Given the description of an element on the screen output the (x, y) to click on. 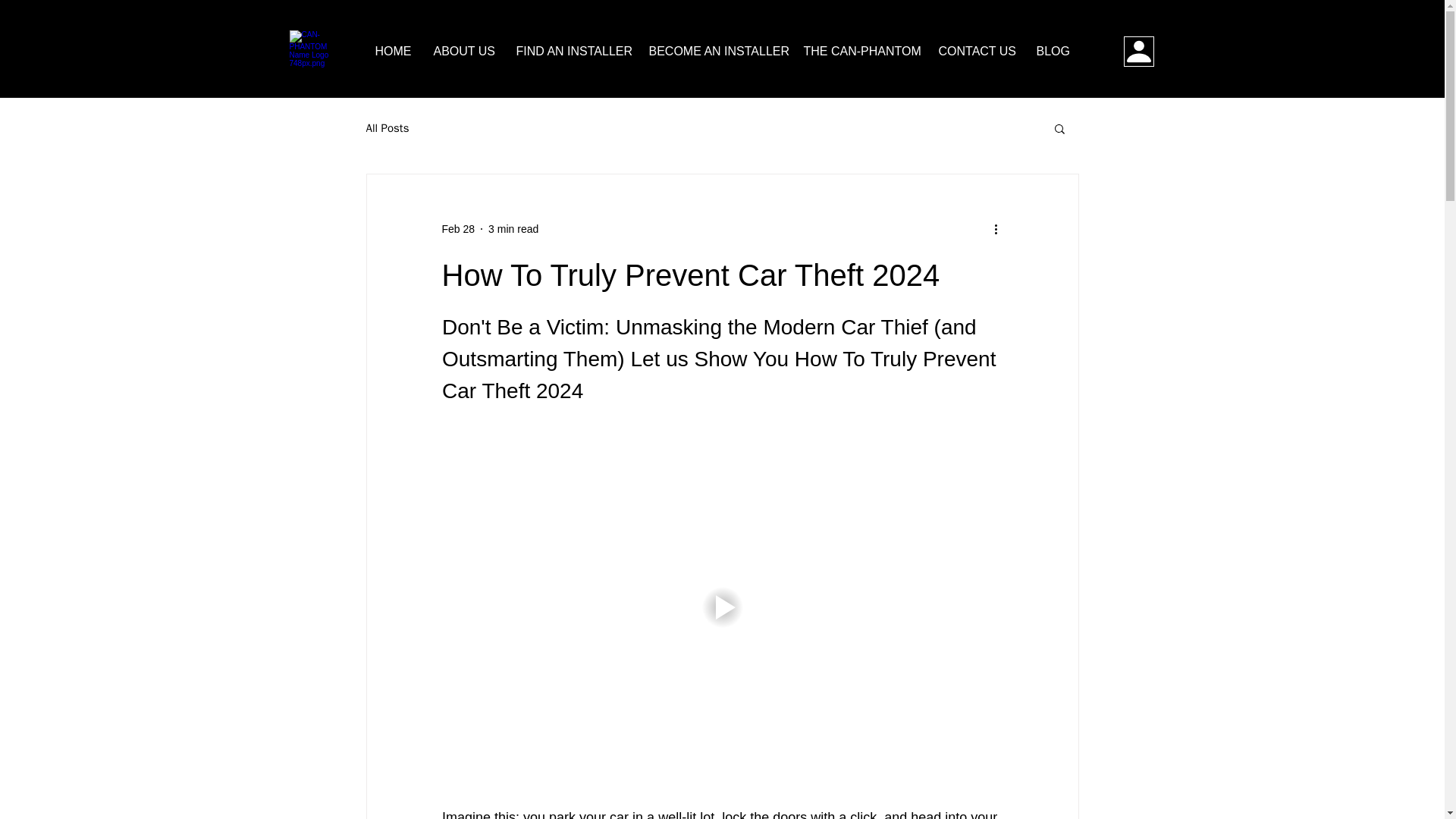
BECOME AN INSTALLER (714, 51)
Feb 28 (457, 228)
All Posts (387, 128)
BLOG (1052, 51)
HOME (393, 51)
ABOUT US (462, 51)
CONTACT US (975, 51)
3 min read (512, 228)
FIND AN INSTALLER (571, 51)
THE CAN-PHANTOM (859, 51)
